Given the description of an element on the screen output the (x, y) to click on. 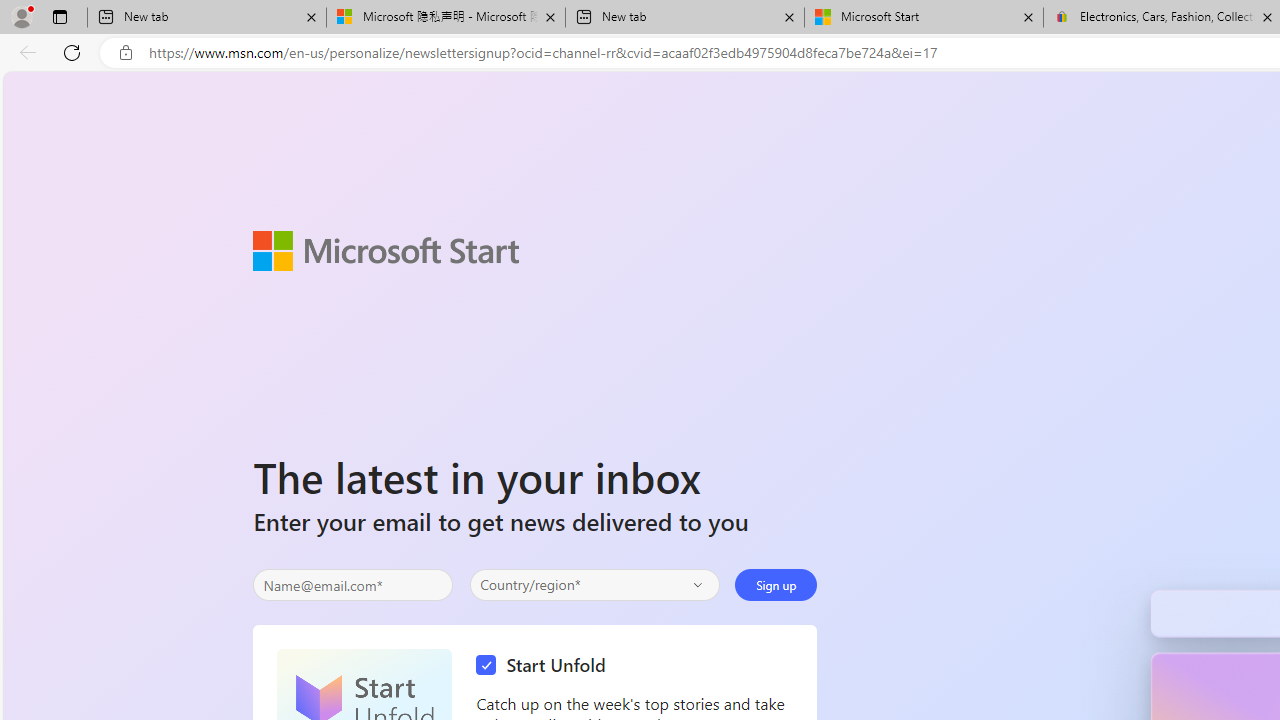
Enter your email (353, 585)
Sign up (775, 584)
Start Unfold (545, 665)
Select your country (594, 584)
